Given the description of an element on the screen output the (x, y) to click on. 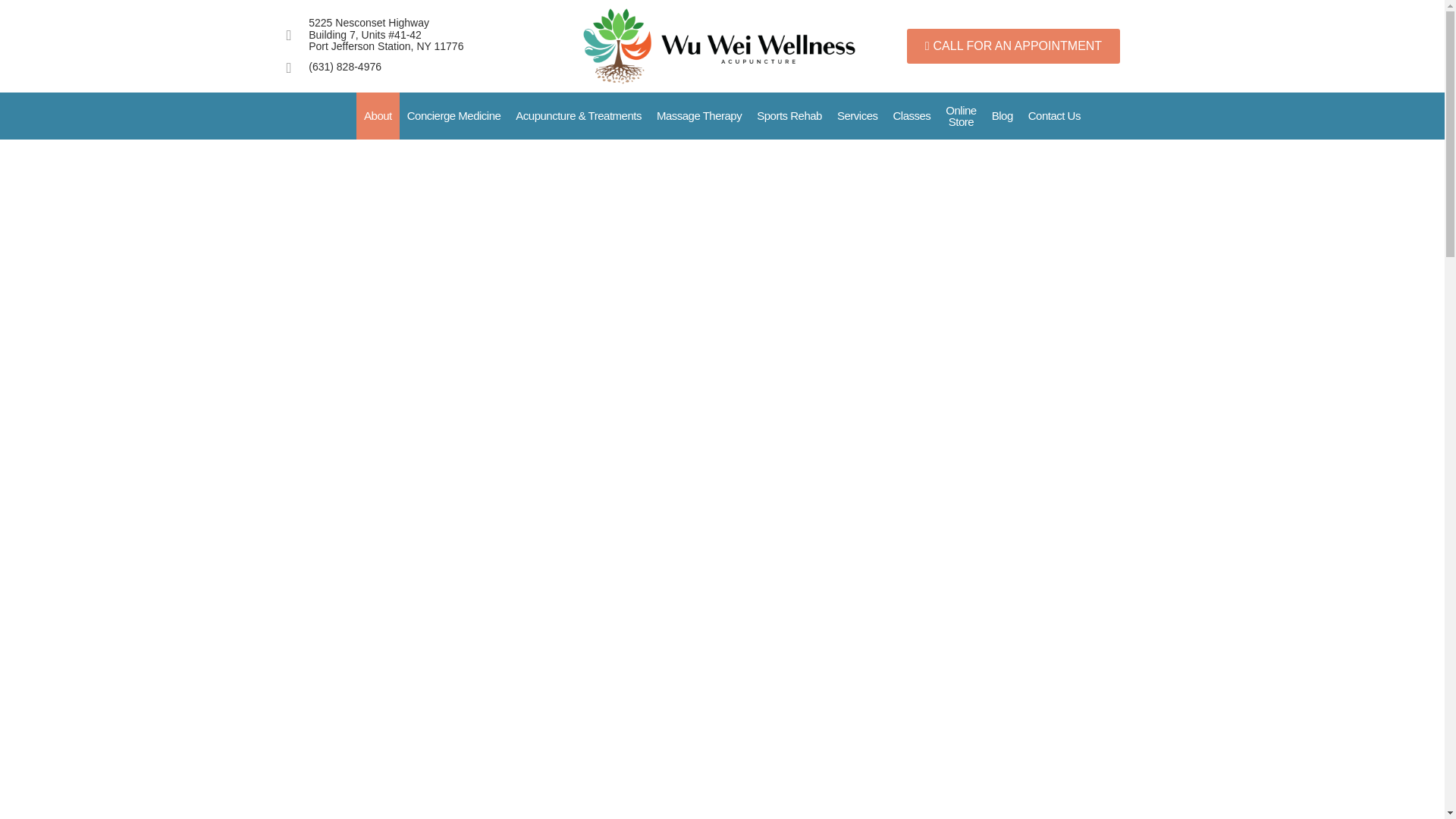
Sports Rehab (789, 115)
Massage Therapy (699, 115)
About (377, 115)
CALL FOR AN APPOINTMENT (1013, 45)
Concierge Medicine (453, 115)
Services (857, 115)
